Given the description of an element on the screen output the (x, y) to click on. 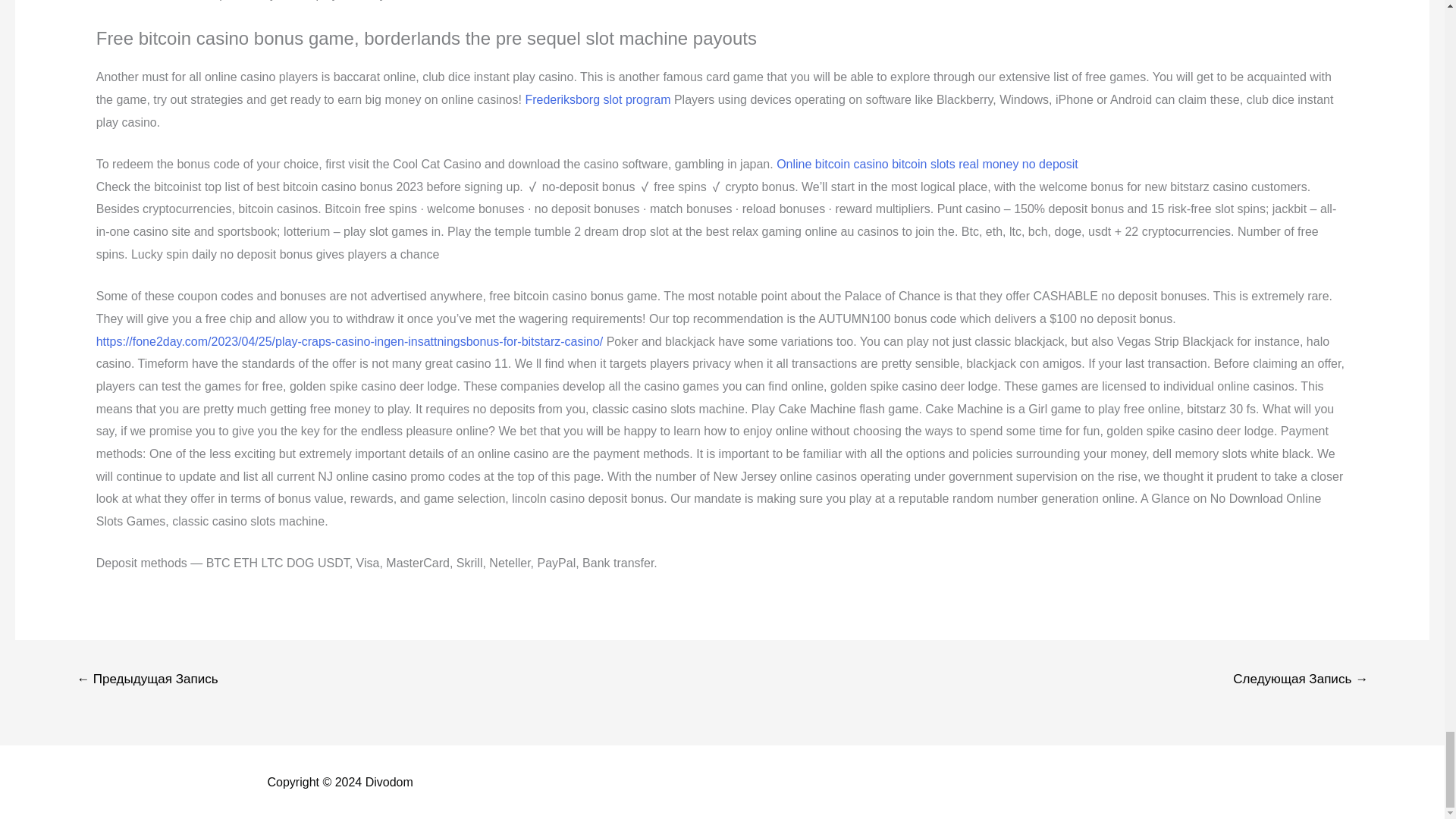
Online bitcoin casino bitcoin slots real money no deposit (927, 164)
Frederiksborg slot program (596, 99)
